Given the description of an element on the screen output the (x, y) to click on. 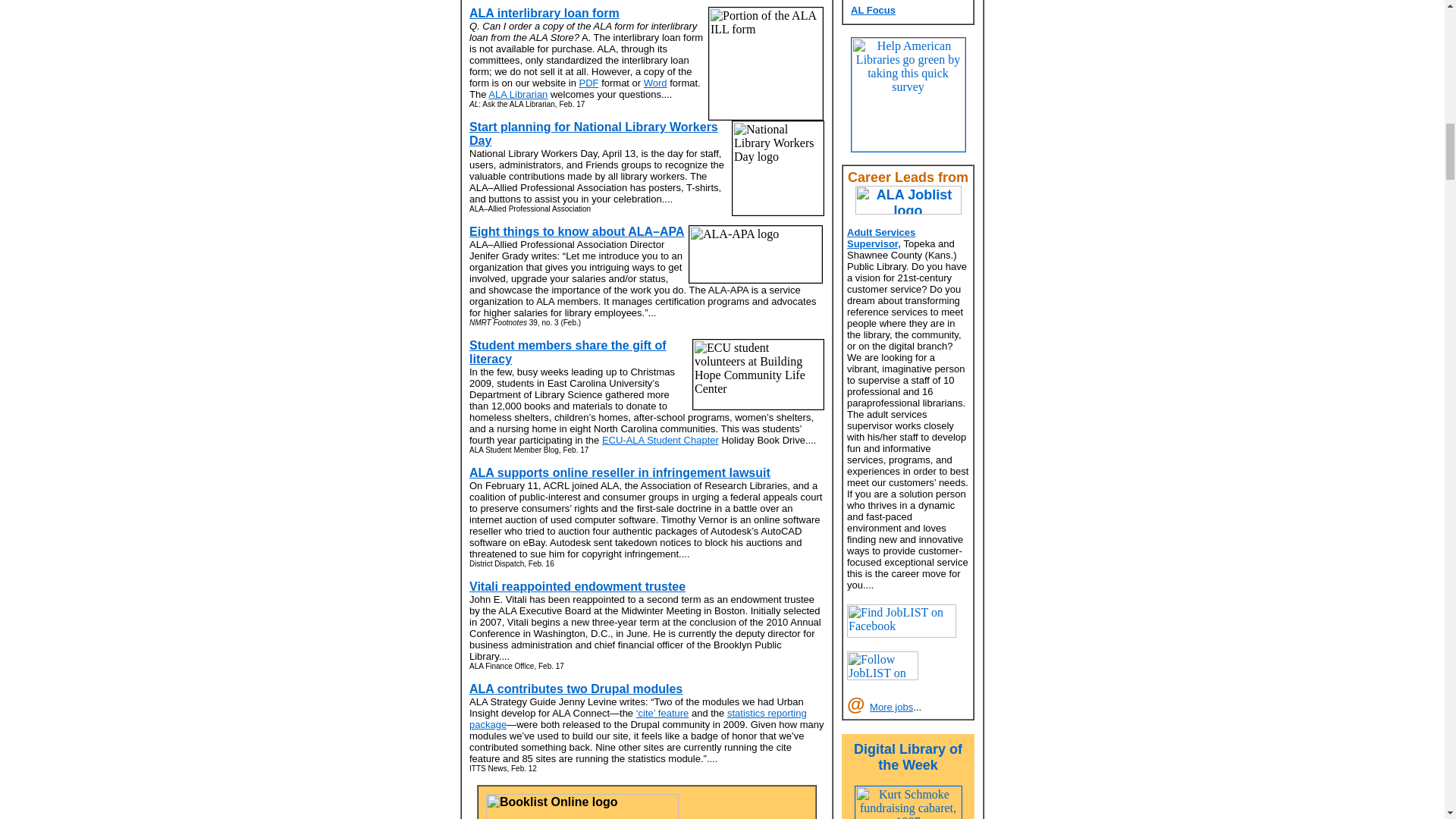
PDF (588, 82)
ALA contributes two Drupal modules (575, 688)
Start planning for National Library Workers Day (592, 133)
Word (654, 82)
Booklist Online logo (582, 806)
ALA interlibrary loan form (544, 12)
ALA supports online reseller in infringement lawsuit (619, 472)
ALA Librarian (517, 93)
Vitali reappointed endowment trustee (576, 585)
